Given the description of an element on the screen output the (x, y) to click on. 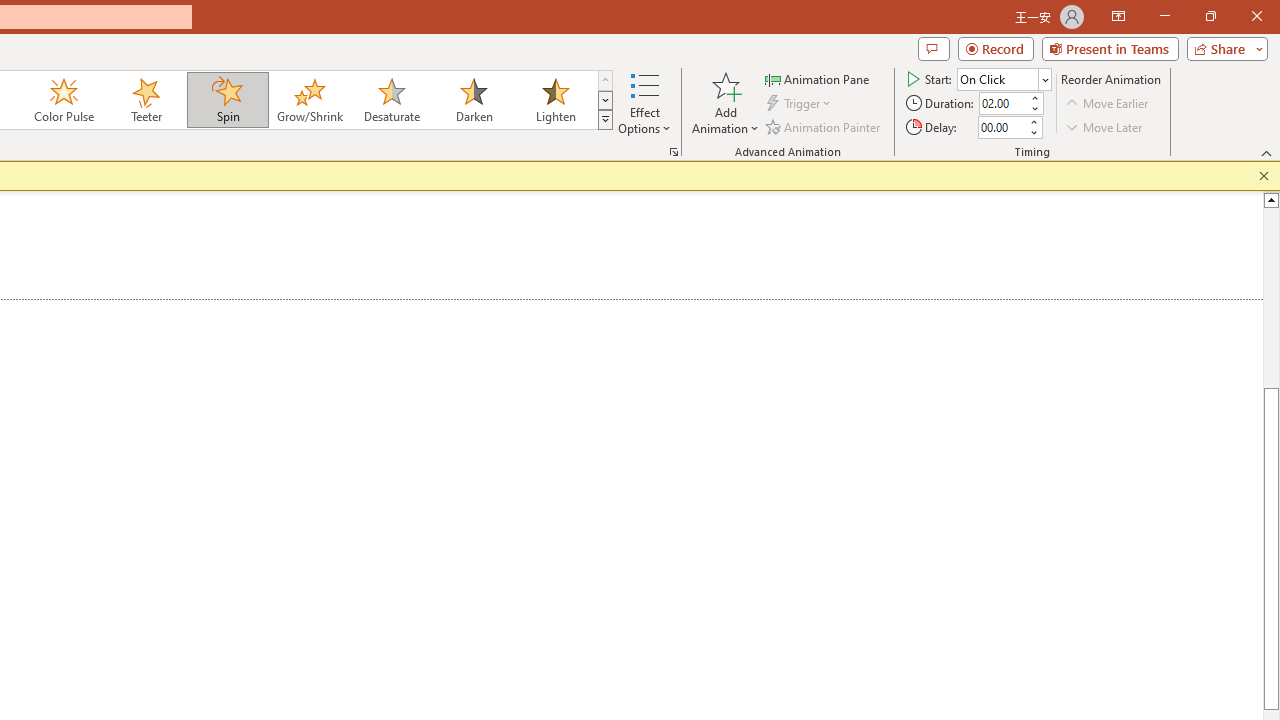
Less (1033, 132)
Close this message (1263, 176)
